Given the description of an element on the screen output the (x, y) to click on. 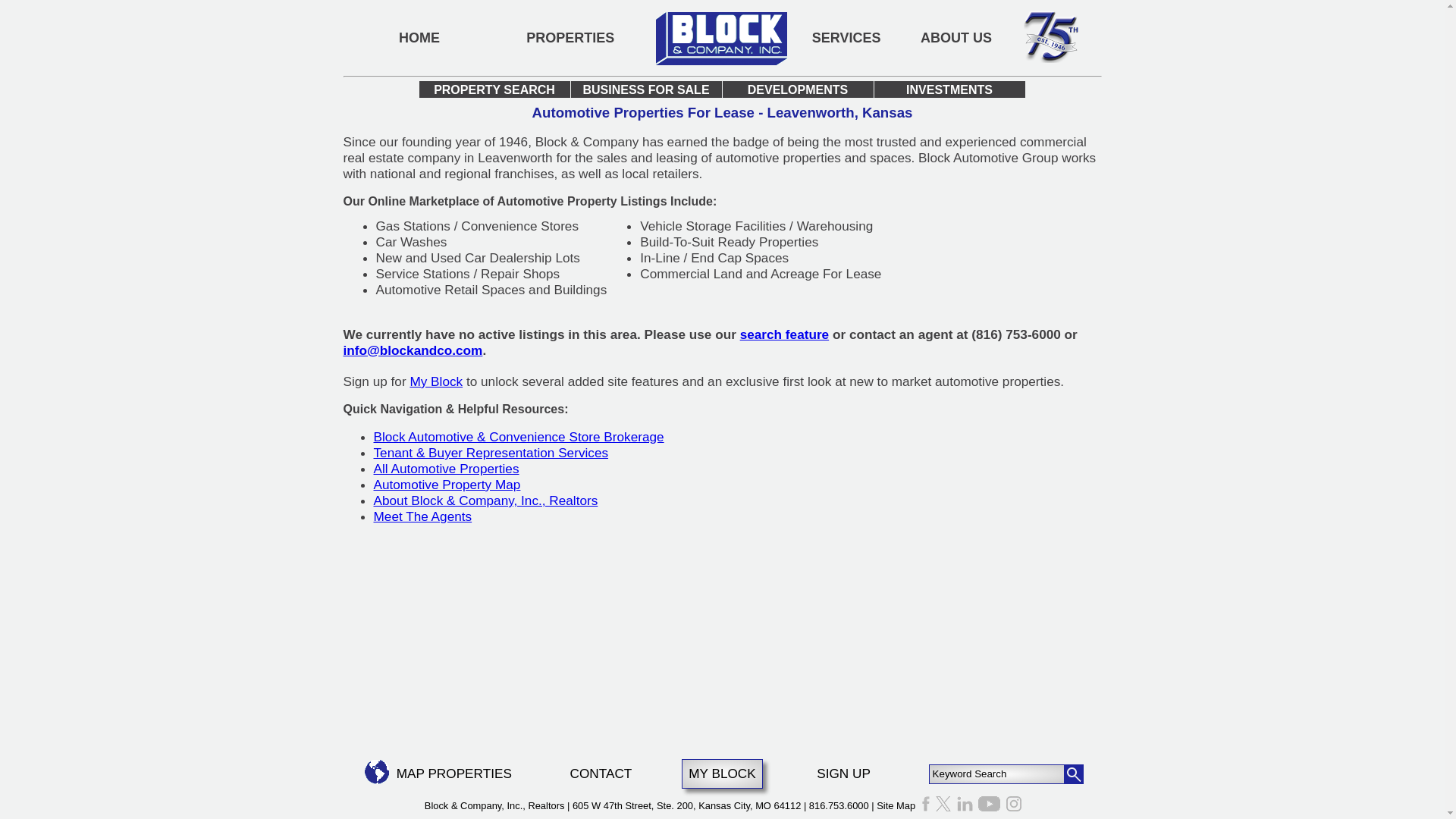
PROPERTY SEARCH (494, 89)
INVESTMENTS (949, 89)
My Block (436, 381)
BUSINESS FOR SALE (645, 89)
Meet The Agents (421, 516)
Automotive Property Map (445, 484)
DEVELOPMENTS (797, 89)
ABOUT US (955, 37)
search feature (784, 334)
SERVICES (846, 37)
